Given the description of an element on the screen output the (x, y) to click on. 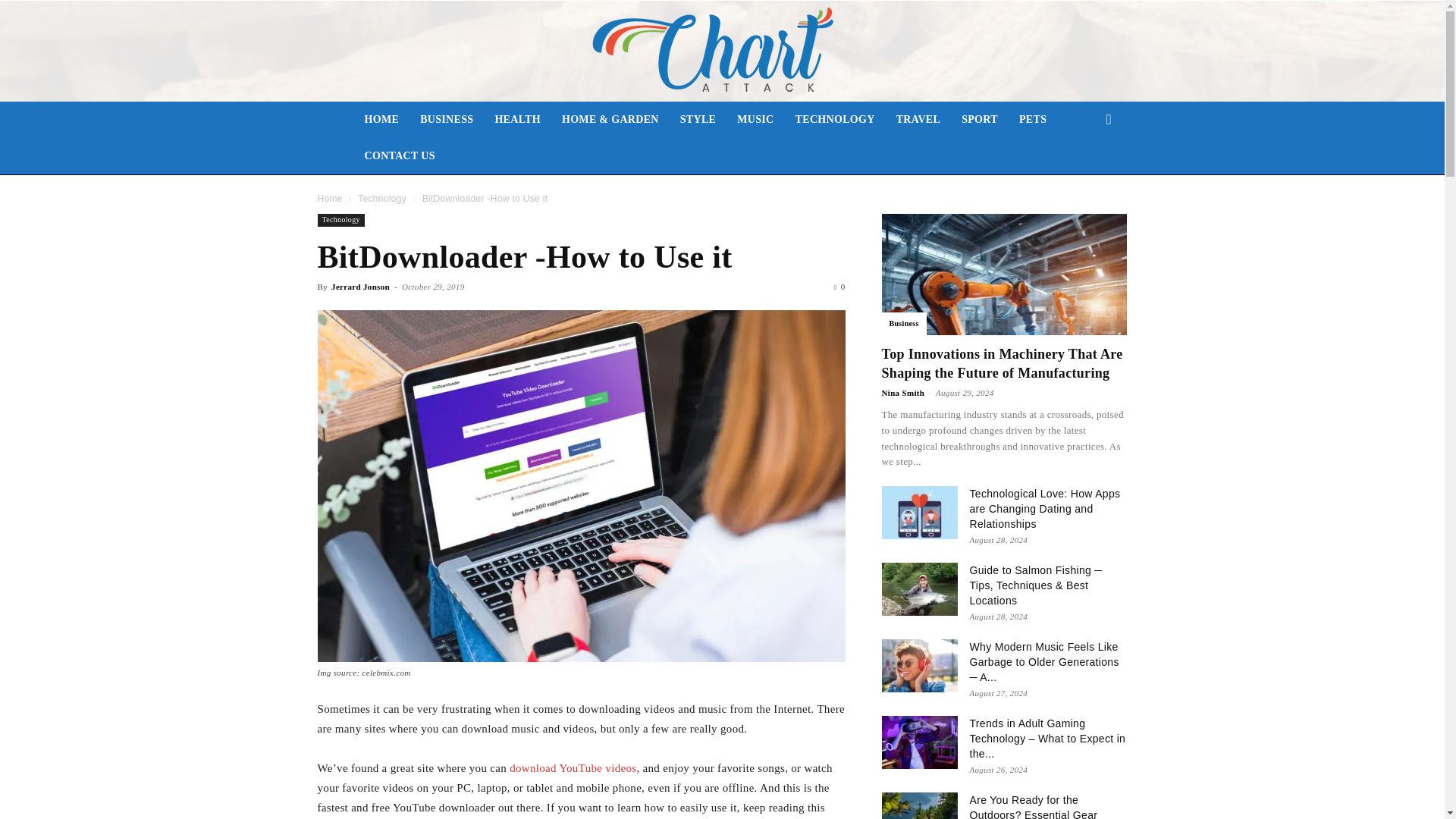
View all posts in Technology (382, 198)
HOME (381, 119)
MUSIC (755, 119)
BUSINESS (446, 119)
Jerrard Jonson (360, 286)
CONTACT US (399, 156)
0 (839, 286)
SPORT (979, 119)
HEALTH (517, 119)
